Given the description of an element on the screen output the (x, y) to click on. 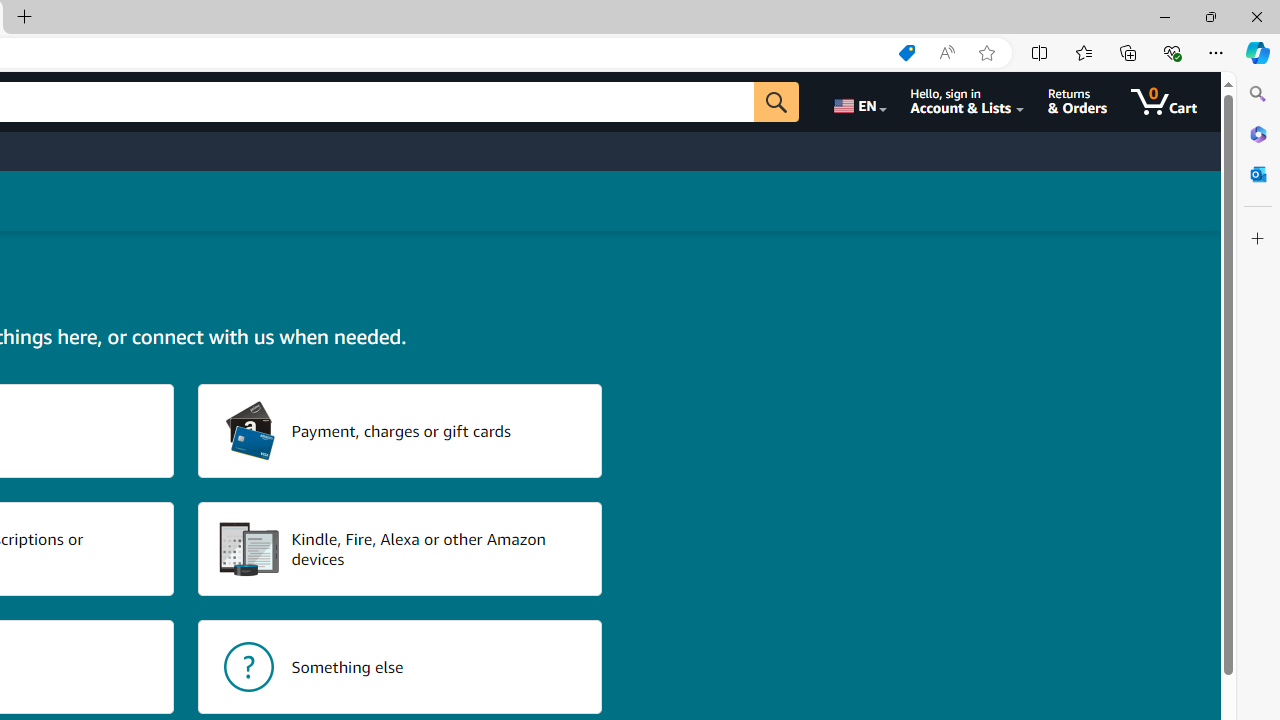
Payment, charges or gift cards (400, 430)
Hello, sign in Account & Lists (967, 101)
Go (776, 101)
Choose a language for shopping. (858, 101)
Kindle, Fire, Alexa or other Amazon devices (400, 548)
